Given the description of an element on the screen output the (x, y) to click on. 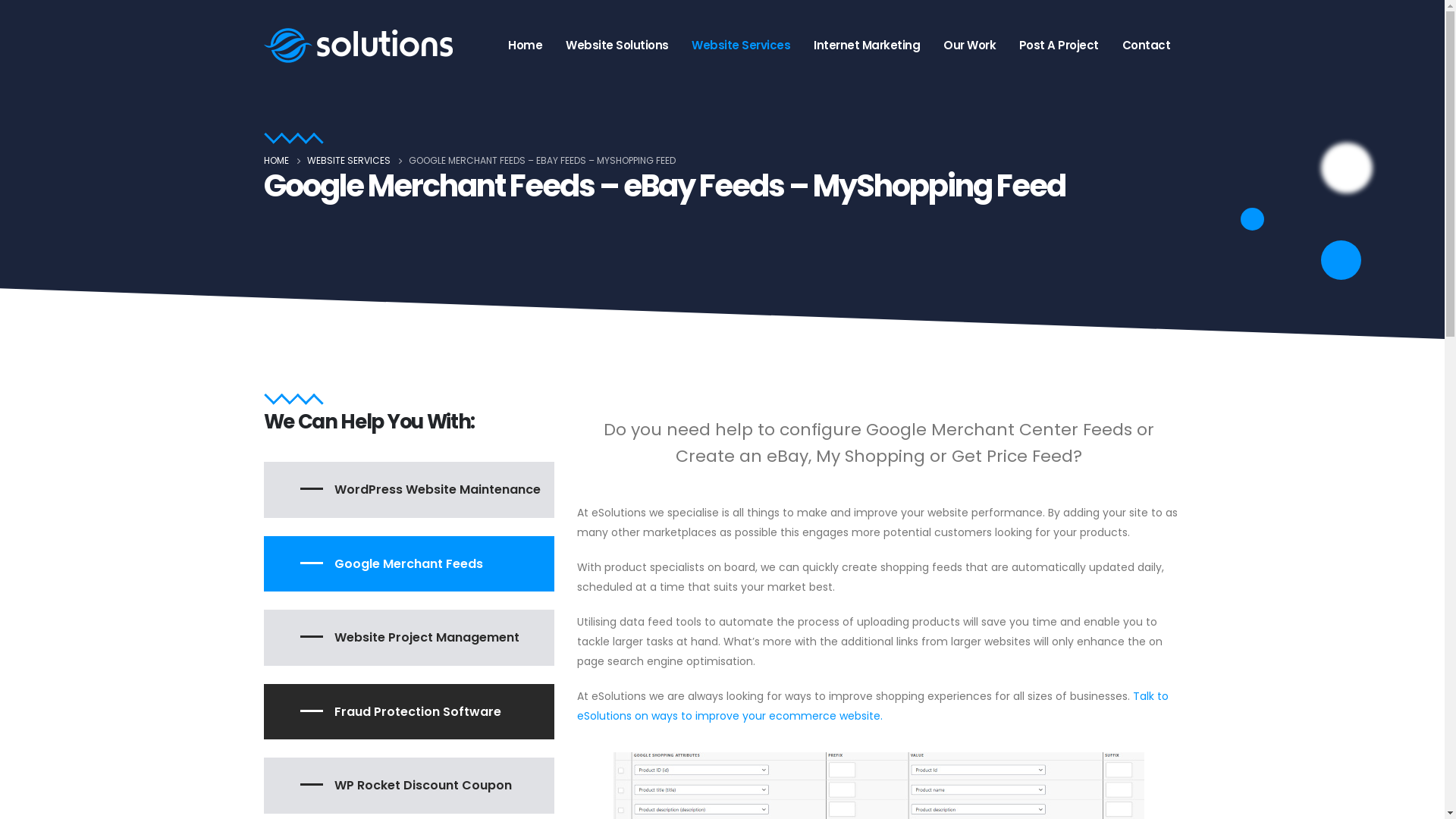
WordPress Website Maintenance Element type: text (408, 489)
WEBSITE SERVICES Element type: text (347, 160)
WP Rocket Discount Coupon Element type: text (408, 785)
Contact Element type: text (1145, 45)
Fraud Protection Software Element type: text (408, 712)
HOME Element type: text (275, 160)
Website Services Element type: text (740, 45)
Website Project Management Element type: text (408, 637)
Internet Marketing Element type: text (867, 45)
Home Element type: text (525, 45)
Google Merchant Feeds Element type: text (408, 564)
Our Work Element type: text (969, 45)
Website Solutions Element type: text (617, 45)
Post A Project Element type: text (1058, 45)
